Given the description of an element on the screen output the (x, y) to click on. 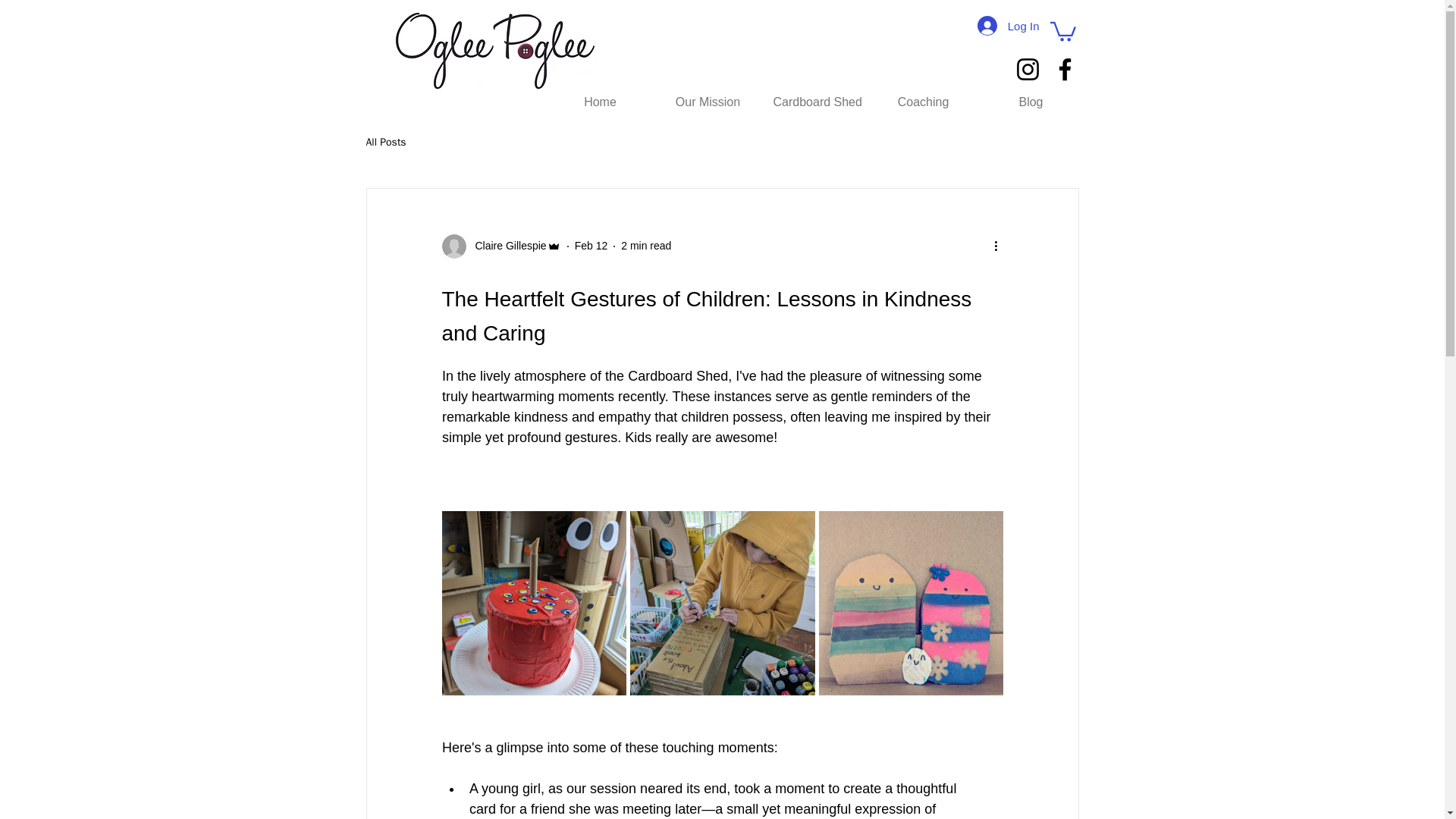
Log In (1007, 25)
Coaching (922, 101)
Blog (1030, 101)
Our Mission (707, 101)
Claire Gillespie (505, 245)
Cardboard Shed (815, 101)
Feb 12 (591, 245)
Claire Gillespie (500, 246)
All Posts (385, 142)
2 min read (646, 245)
Home (599, 101)
